Given the description of an element on the screen output the (x, y) to click on. 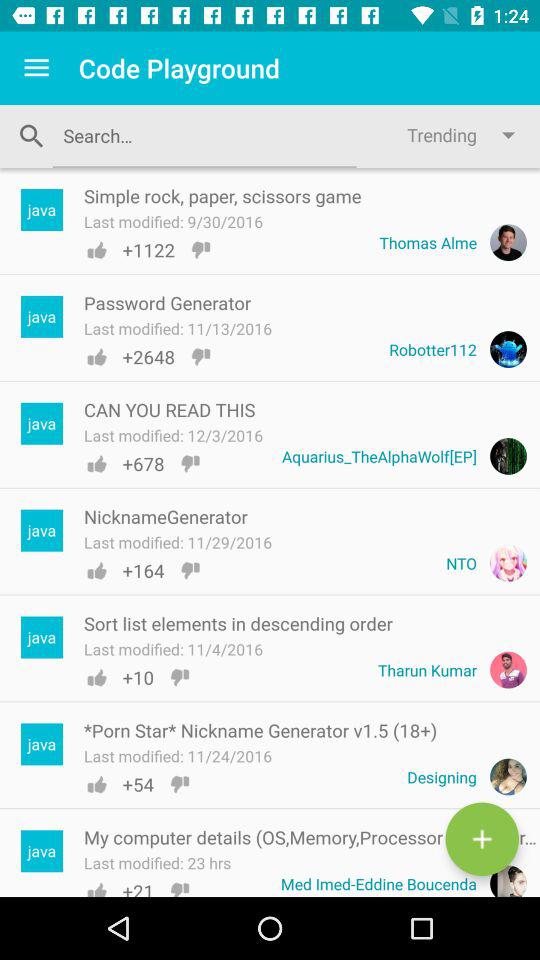
new message (482, 839)
